Given the description of an element on the screen output the (x, y) to click on. 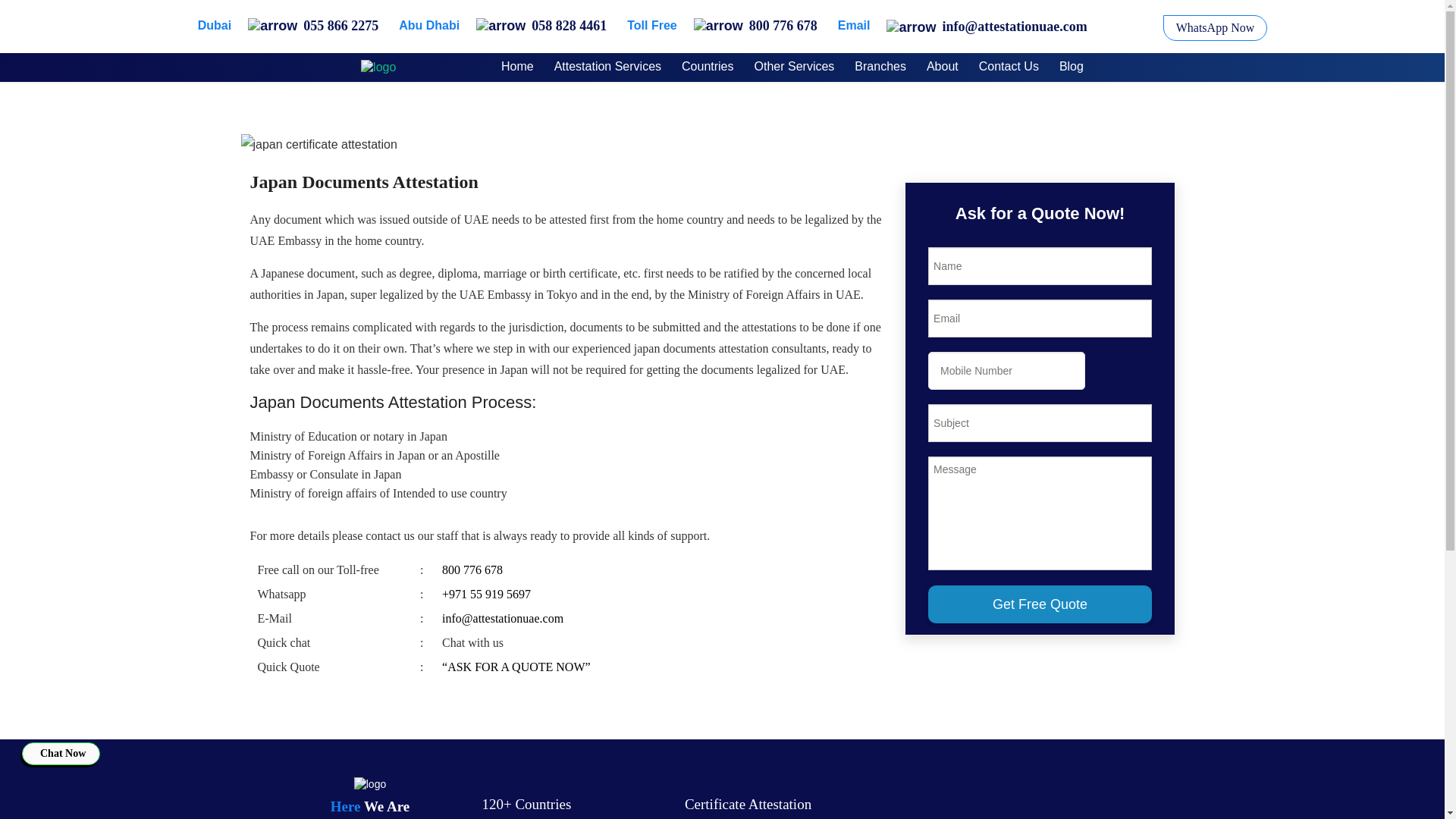
Other Services (794, 67)
WhatsApp Now (1215, 27)
Email (854, 26)
Home (517, 67)
Abu Dhabi (429, 26)
Toll Free (652, 26)
googleMaps (1000, 798)
800 776 678 (755, 22)
055 866 2275 (312, 22)
Get Free Quote (1039, 604)
